Given the description of an element on the screen output the (x, y) to click on. 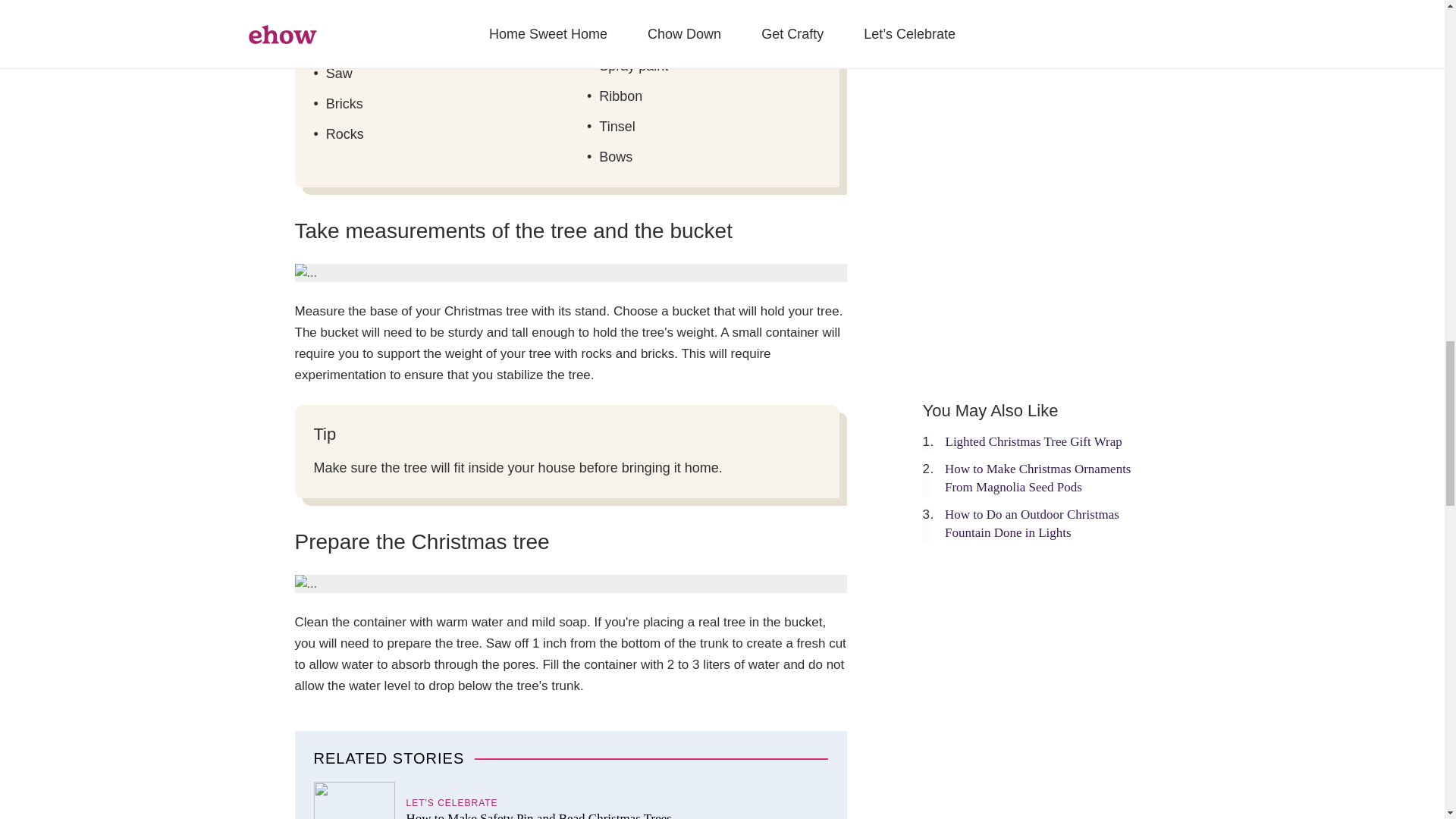
Lighted Christmas Tree Gift Wrap (1032, 441)
How to Do an Outdoor Christmas Fountain Done in Lights (1031, 522)
How to Make Christmas Ornaments From Magnolia Seed Pods (1037, 477)
